Given the description of an element on the screen output the (x, y) to click on. 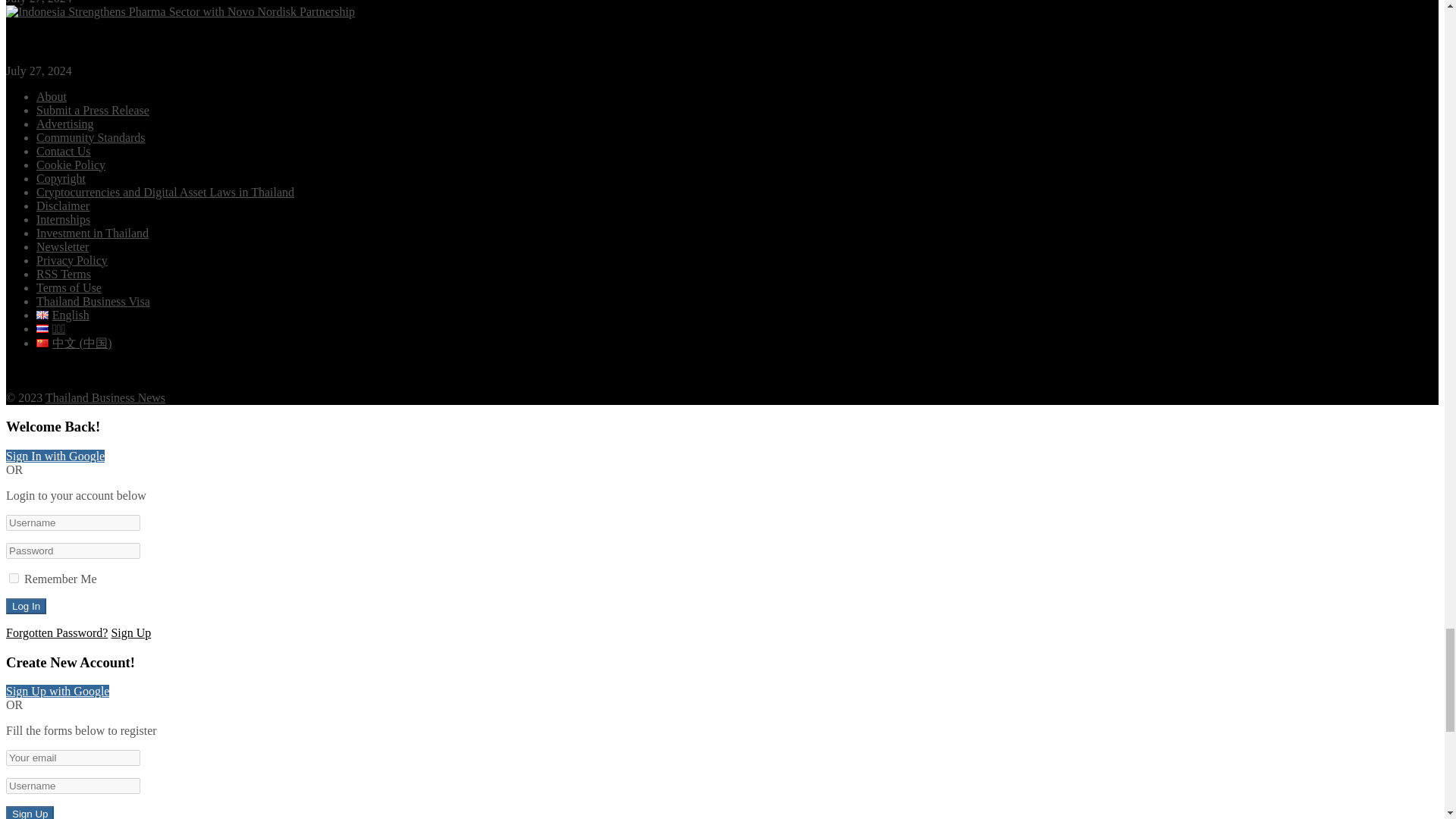
true (13, 578)
Sign Up (29, 812)
Log In (25, 606)
